Given the description of an element on the screen output the (x, y) to click on. 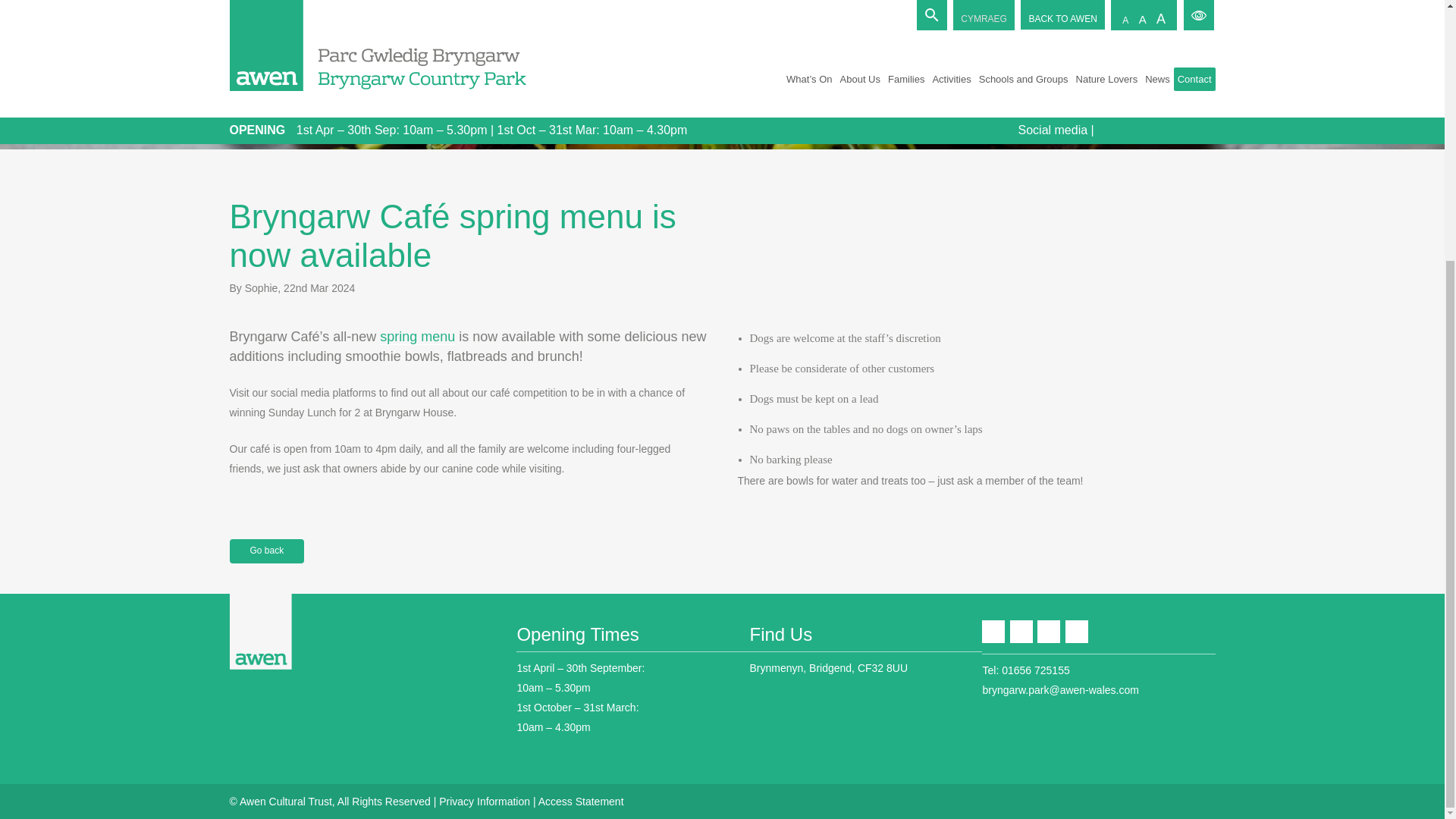
Access Statement (581, 801)
Go back (266, 550)
Tel: 01656 725155 (1024, 670)
spring menu (417, 336)
Privacy Information (484, 801)
